Given the description of an element on the screen output the (x, y) to click on. 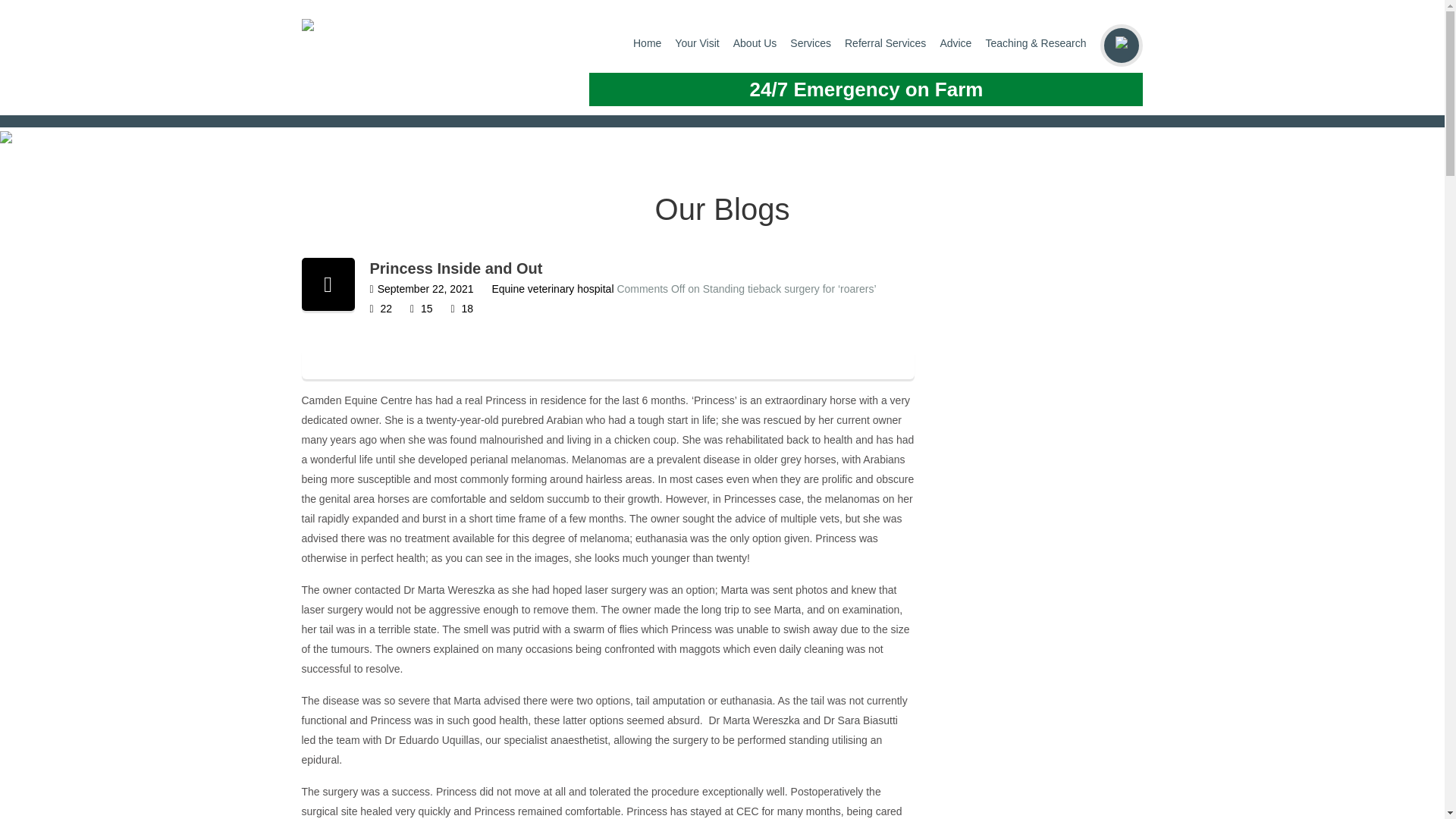
Advice (955, 42)
Your Visit (697, 42)
Home (647, 42)
About Us (755, 42)
Services (810, 42)
Referral Services (885, 42)
Equine veterinary hospital (552, 288)
